Given the description of an element on the screen output the (x, y) to click on. 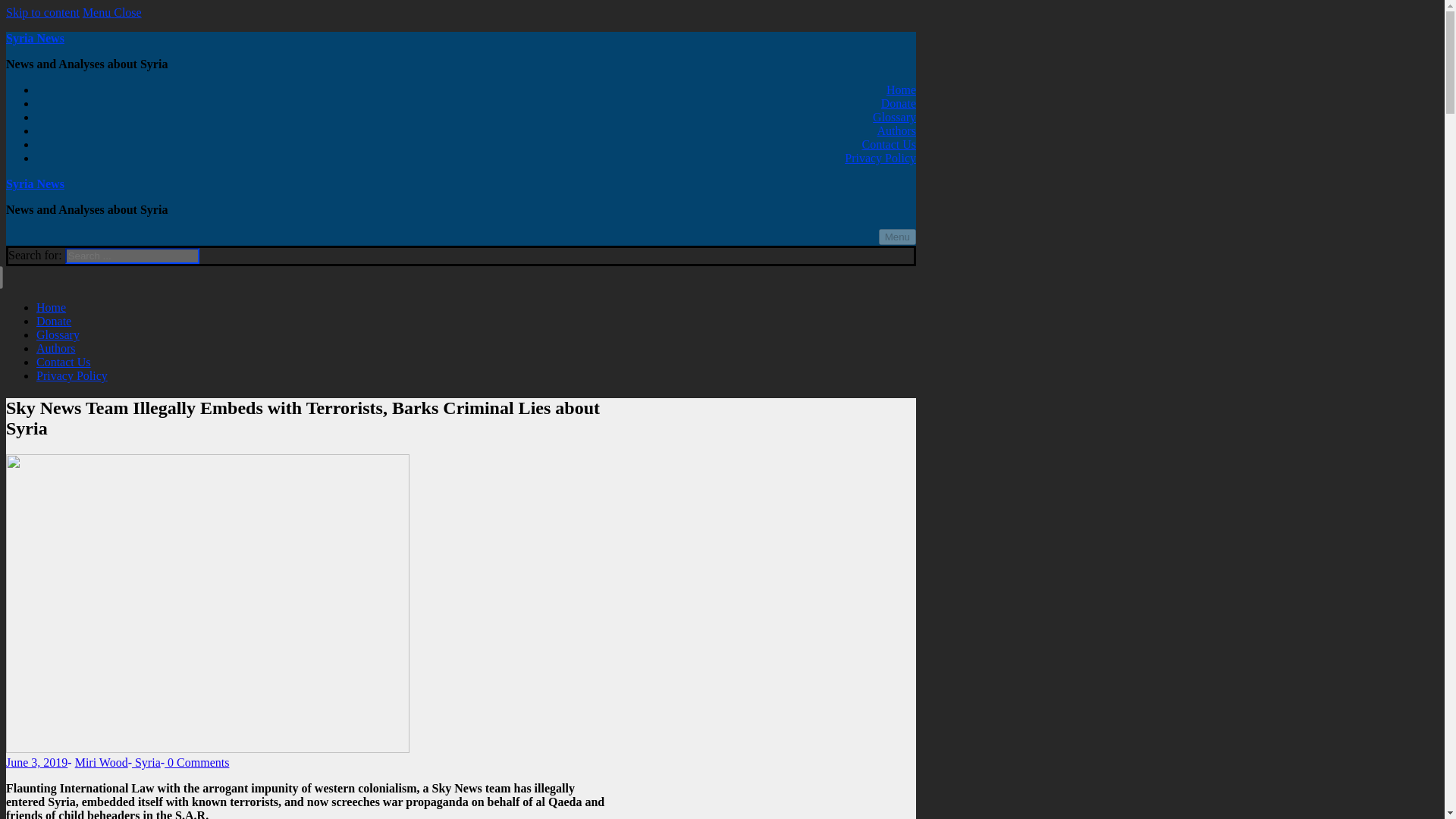
Home (900, 89)
Syria News (34, 38)
Glossary (893, 116)
Syria News (34, 183)
Syria (146, 762)
June 3, 2019 (35, 762)
Miri Wood (101, 762)
Glossary (58, 334)
Contact Us (888, 144)
Menu (897, 236)
